Given the description of an element on the screen output the (x, y) to click on. 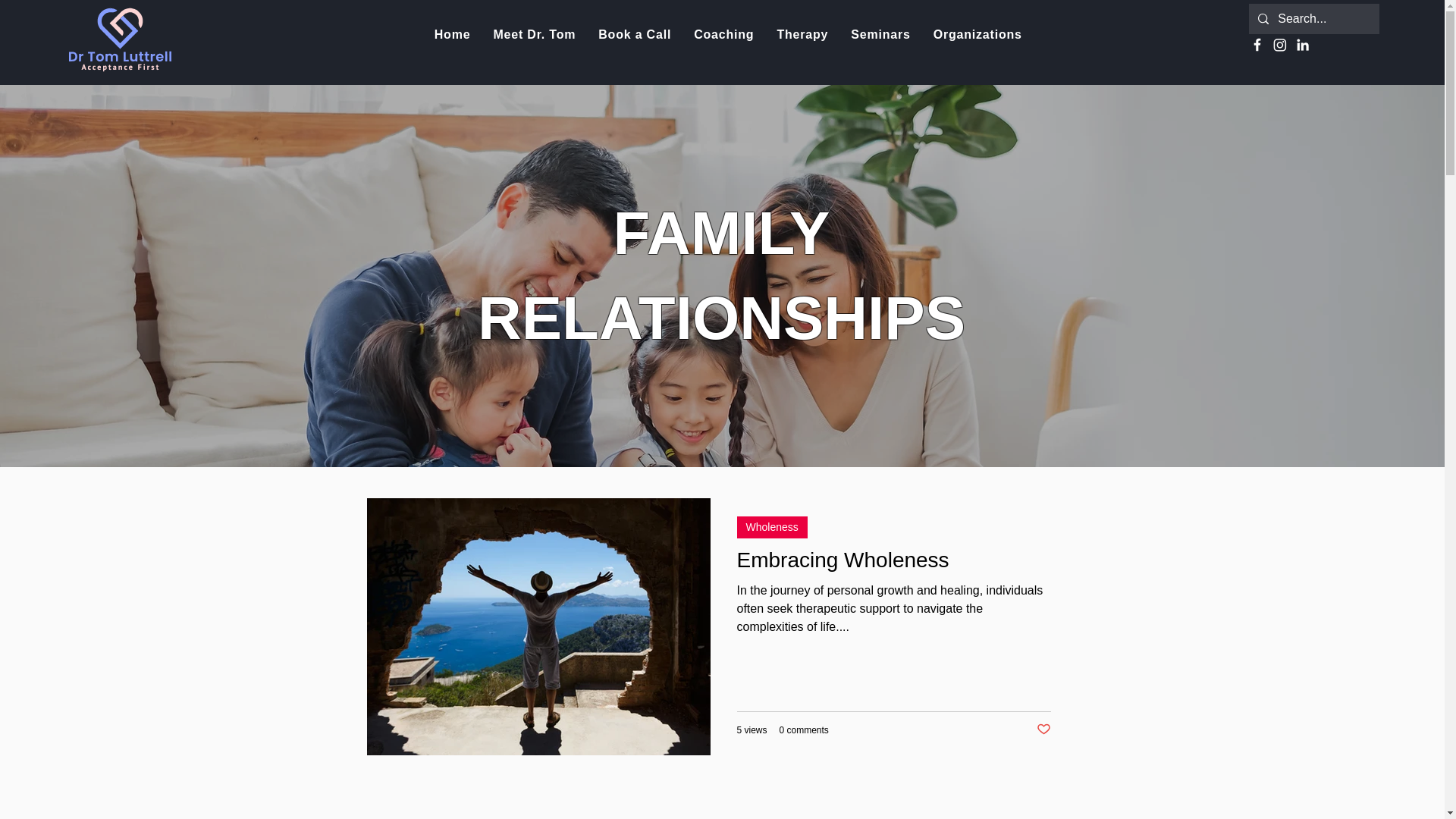
Therapy (802, 34)
Meet Dr. Tom (533, 34)
Coaching (723, 34)
Book a Call (634, 34)
Home (452, 34)
